Given the description of an element on the screen output the (x, y) to click on. 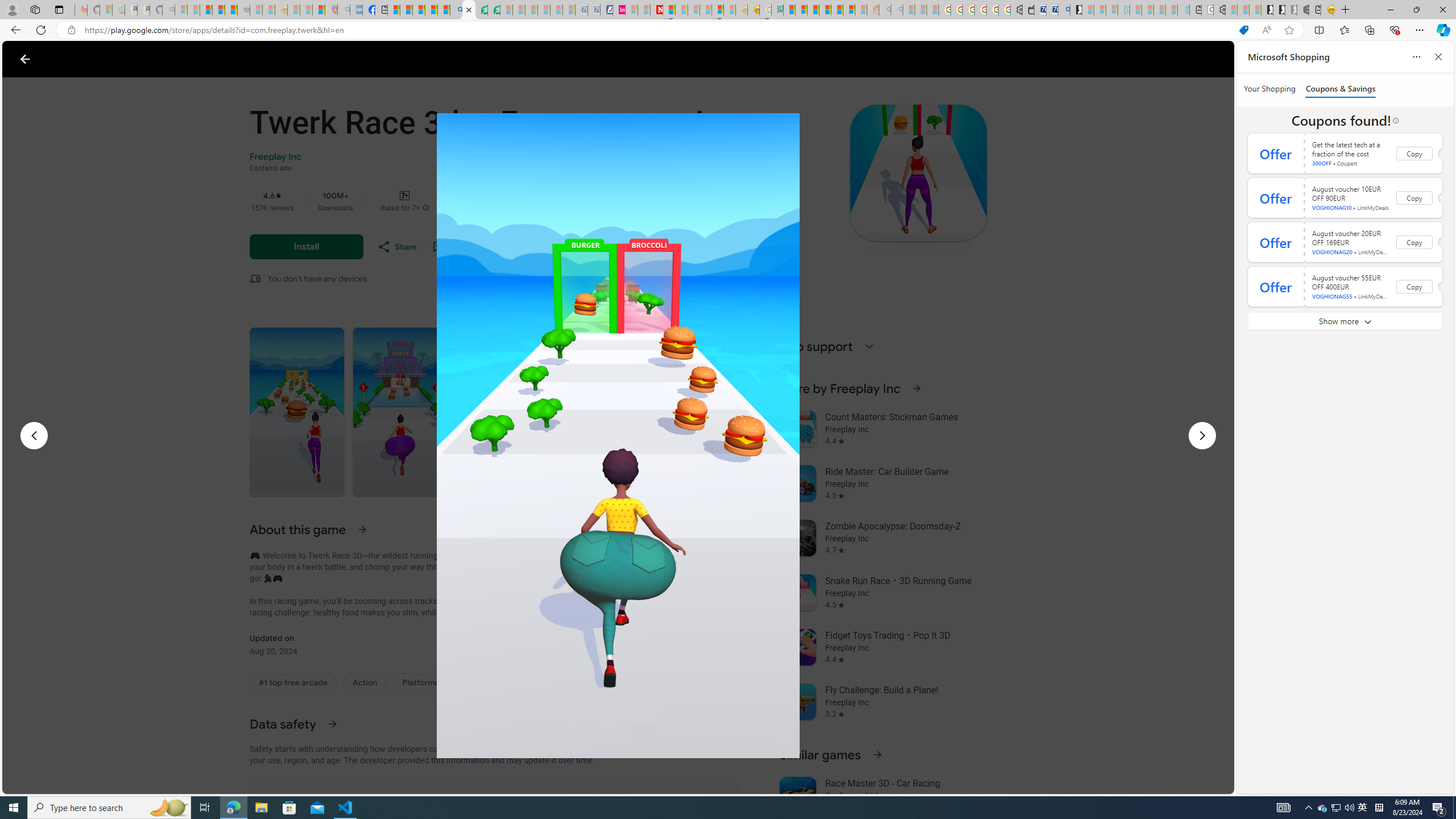
Next (1201, 435)
Stylized (606, 682)
Freeplay Inc (274, 156)
Single player (542, 682)
#1 top free arcade (292, 682)
